Given the description of an element on the screen output the (x, y) to click on. 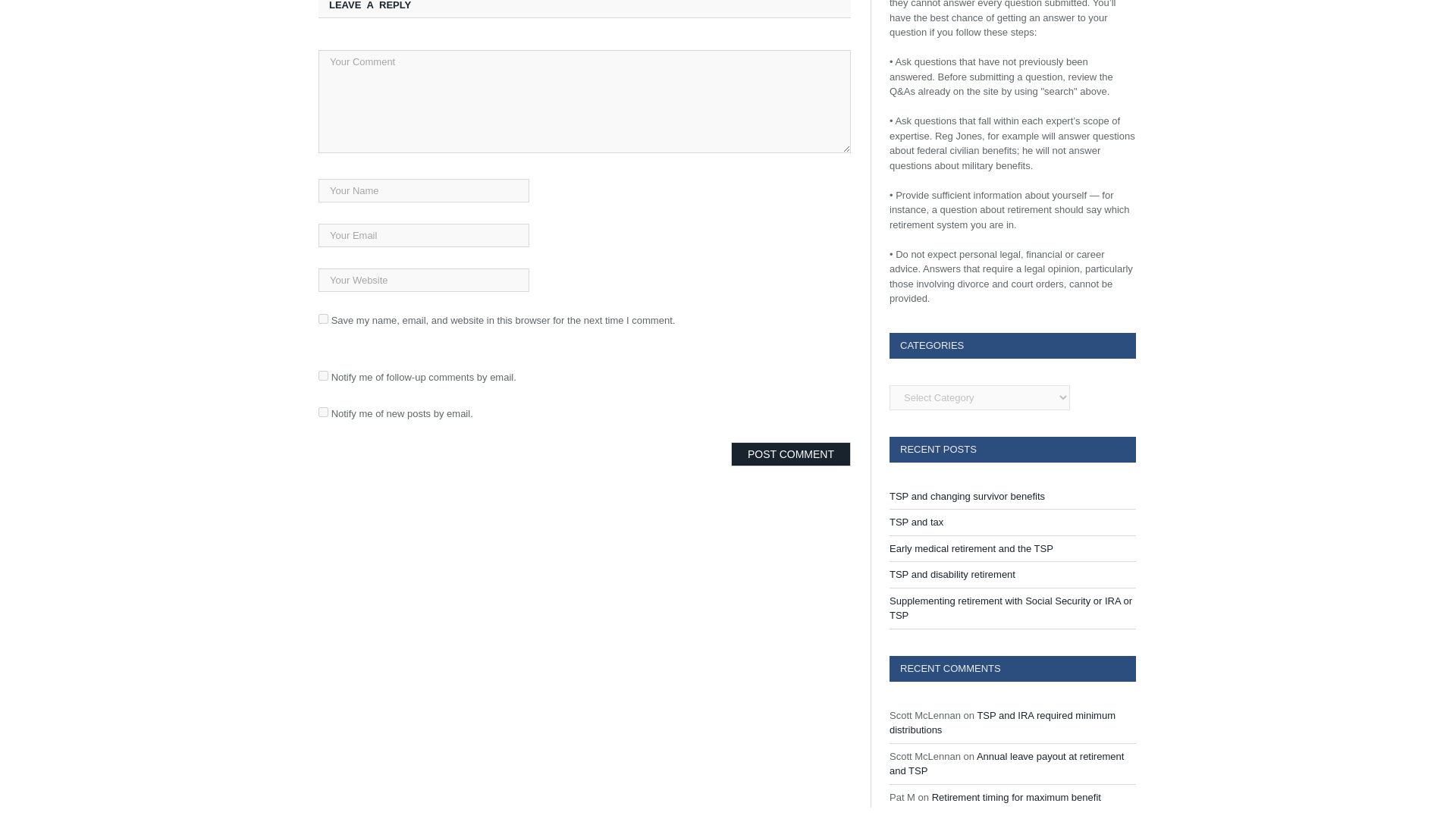
Post Comment (790, 454)
subscribe (323, 375)
yes (323, 318)
subscribe (323, 411)
